Given the description of an element on the screen output the (x, y) to click on. 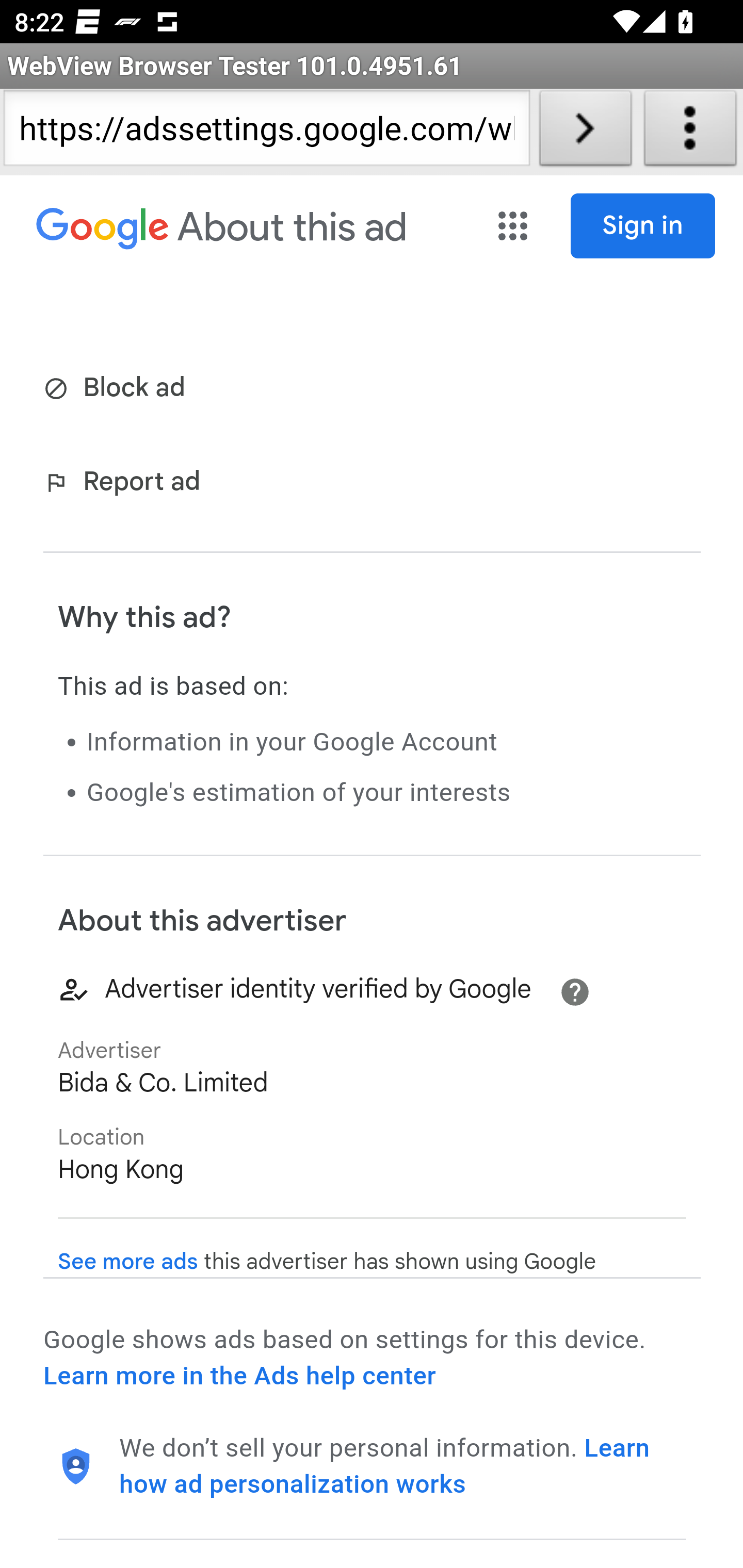
https://adssettings.google.com/whythisad (266, 132)
Load URL (585, 132)
About WebView (690, 132)
Google apps (513, 226)
Sign in (643, 226)
Block ad (117, 388)
Report ad (opens in new tab) Report ad (126, 483)
See more ads (opens in new tab) See more ads (127, 1262)
Learn more in the Ads help center (239, 1375)
Learn how ad personalization works (384, 1465)
